Given the description of an element on the screen output the (x, y) to click on. 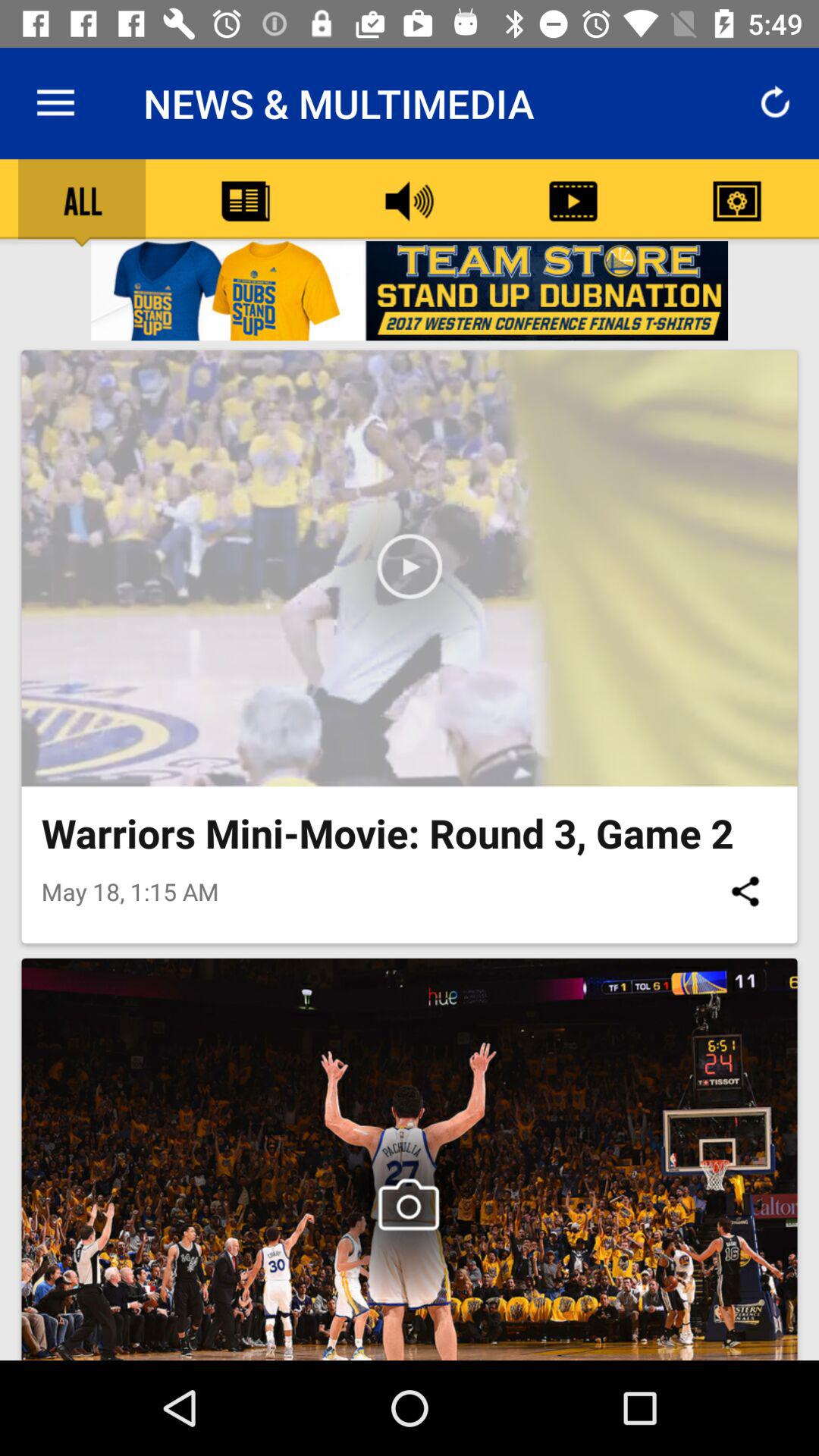
launch icon to the right of the may 18 1 (745, 891)
